Given the description of an element on the screen output the (x, y) to click on. 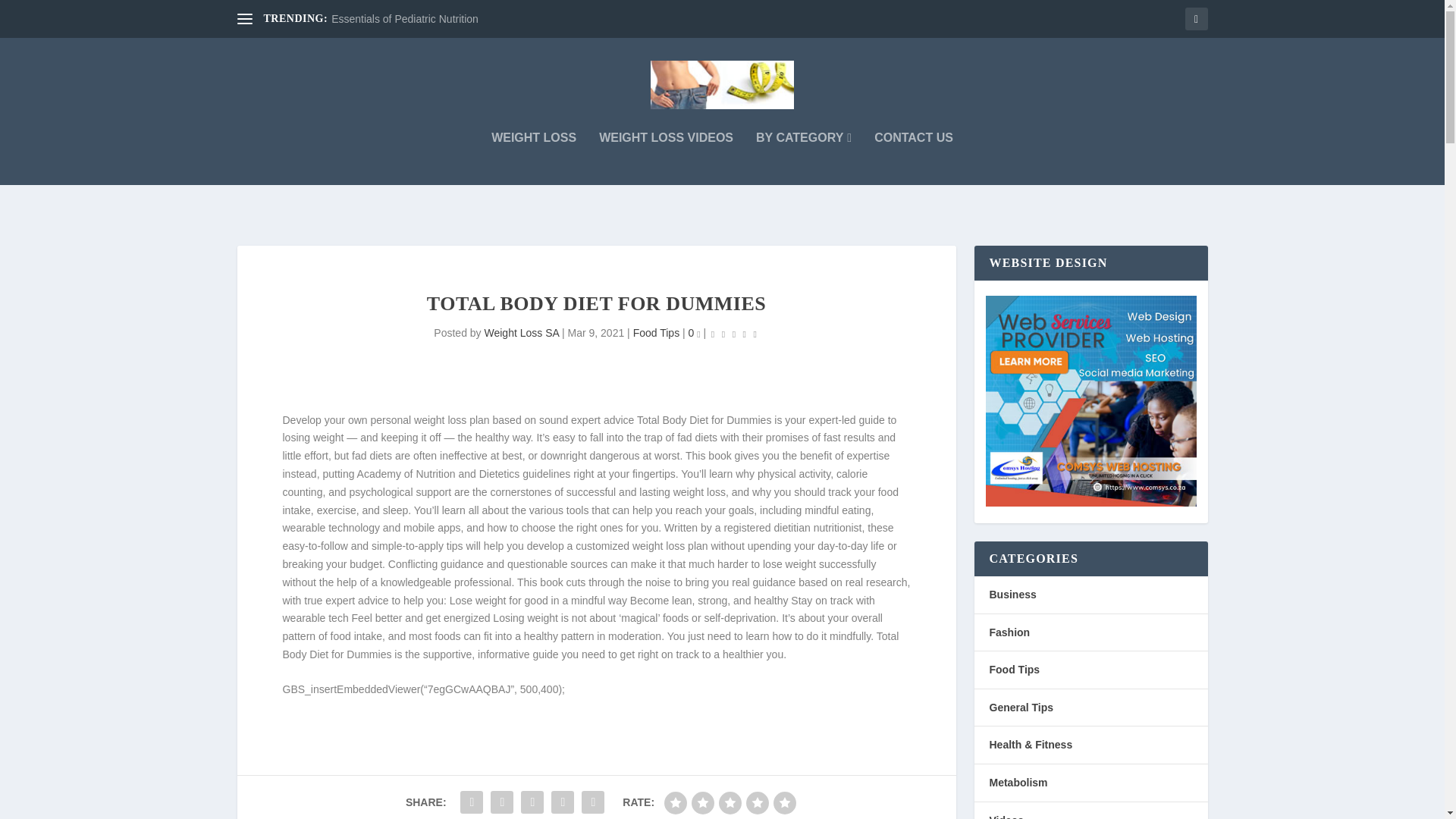
Share "Total Body Diet For Dummies" via Facebook (471, 802)
Rating: 0.00 (733, 333)
Share "Total Body Diet For Dummies" via LinkedIn (562, 802)
Share "Total Body Diet For Dummies" via Stumbleupon (593, 802)
Essentials of Pediatric Nutrition (405, 19)
poor (702, 802)
WEIGHT LOSS VIDEOS (665, 158)
Share "Total Body Diet For Dummies" via Twitter (501, 802)
WEIGHT LOSS (534, 158)
regular (730, 802)
CONTACT US (914, 158)
bad (675, 802)
good (756, 802)
Share "Total Body Diet For Dummies" via Pinterest (531, 802)
gorgeous (784, 802)
